Given the description of an element on the screen output the (x, y) to click on. 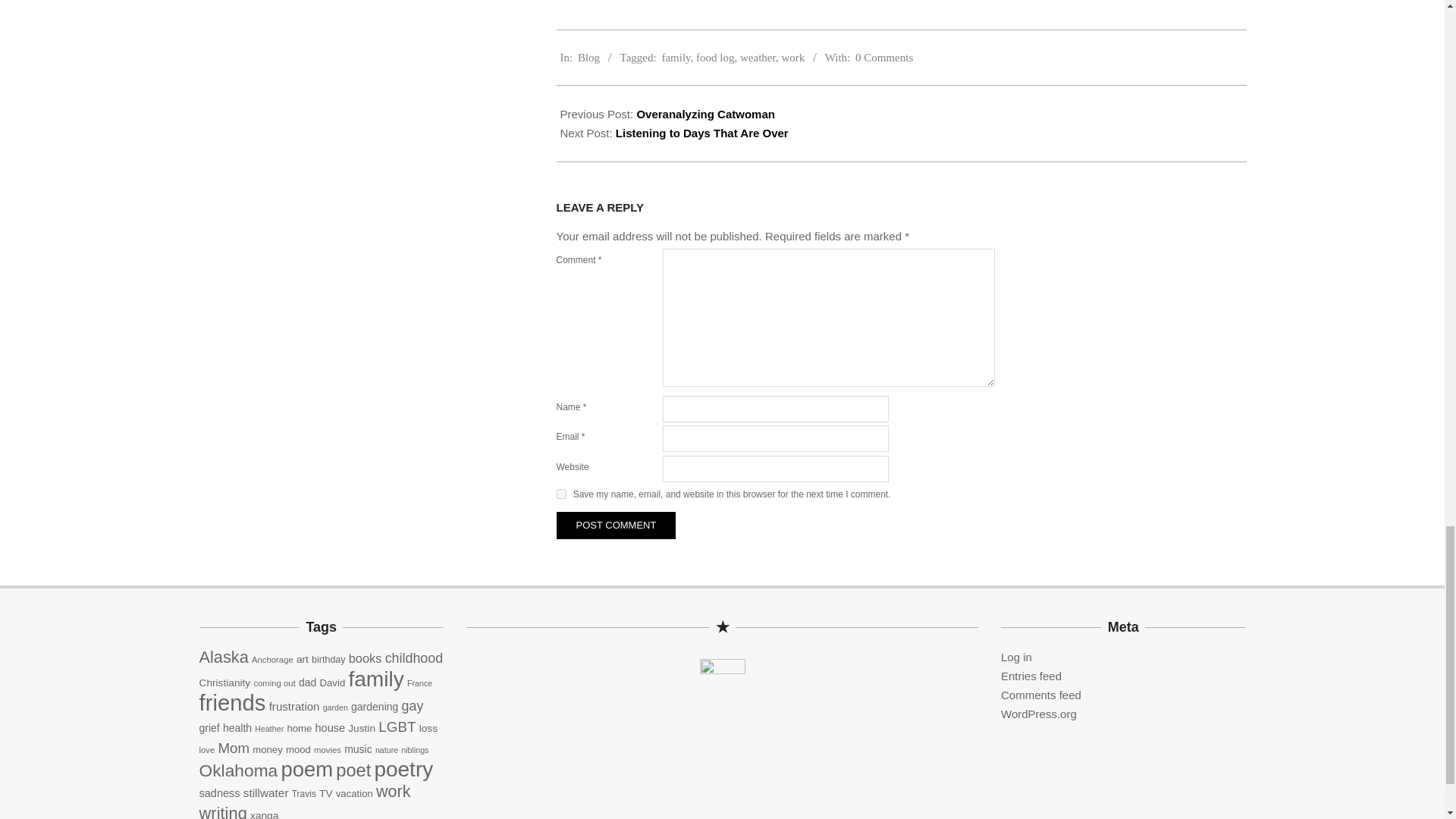
0 Comments (884, 57)
Post Comment (616, 524)
yes (561, 493)
food log (714, 57)
Post Comment (616, 524)
Overanalyzing Catwoman (705, 113)
work (792, 57)
Listening to Days That Are Over (702, 132)
family (675, 57)
Blog (588, 57)
